Given the description of an element on the screen output the (x, y) to click on. 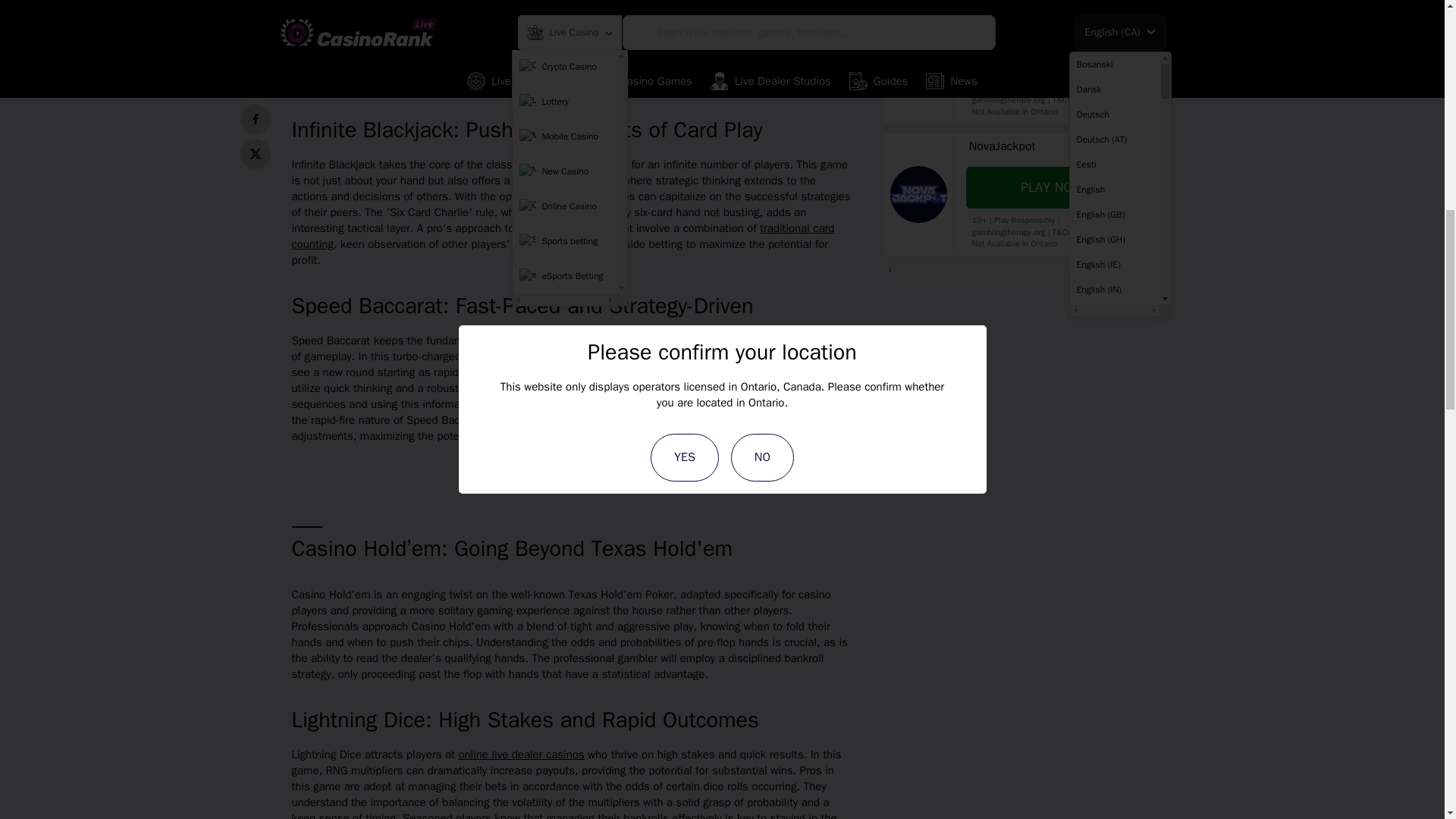
Hrvatski (1113, 4)
